Given the description of an element on the screen output the (x, y) to click on. 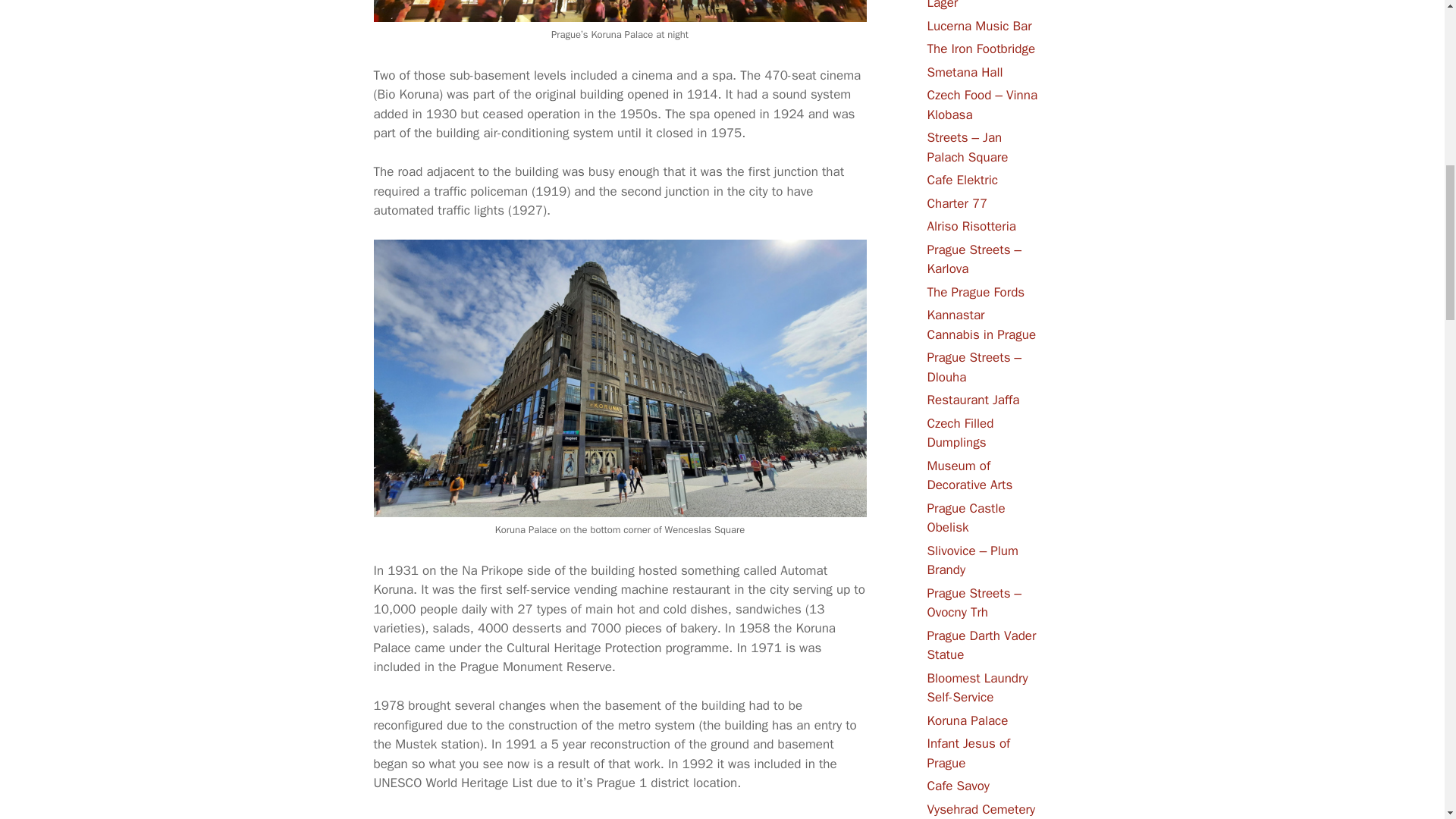
Scroll back to top (1406, 720)
